Given the description of an element on the screen output the (x, y) to click on. 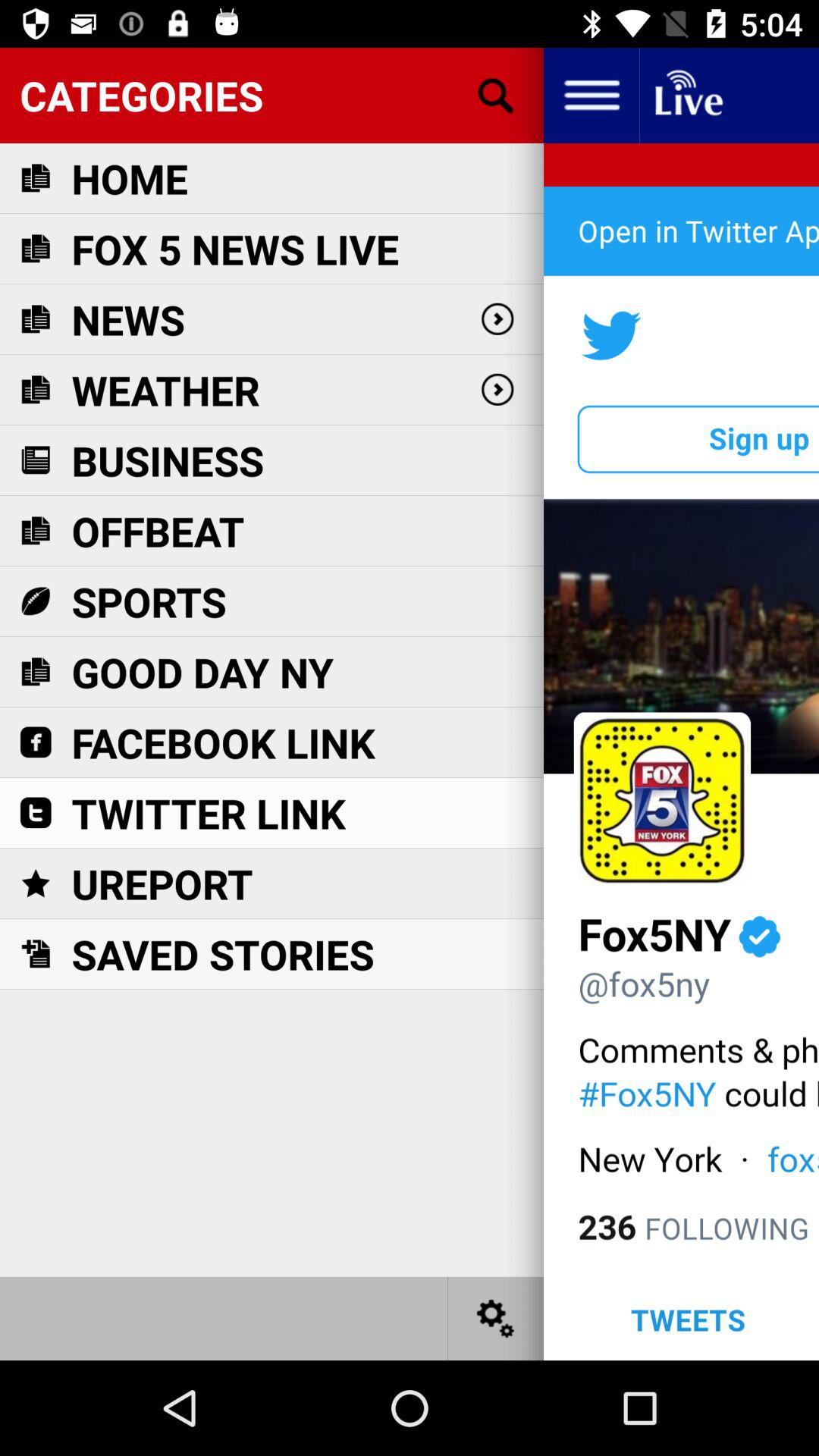
click twitter link icon (208, 812)
